Given the description of an element on the screen output the (x, y) to click on. 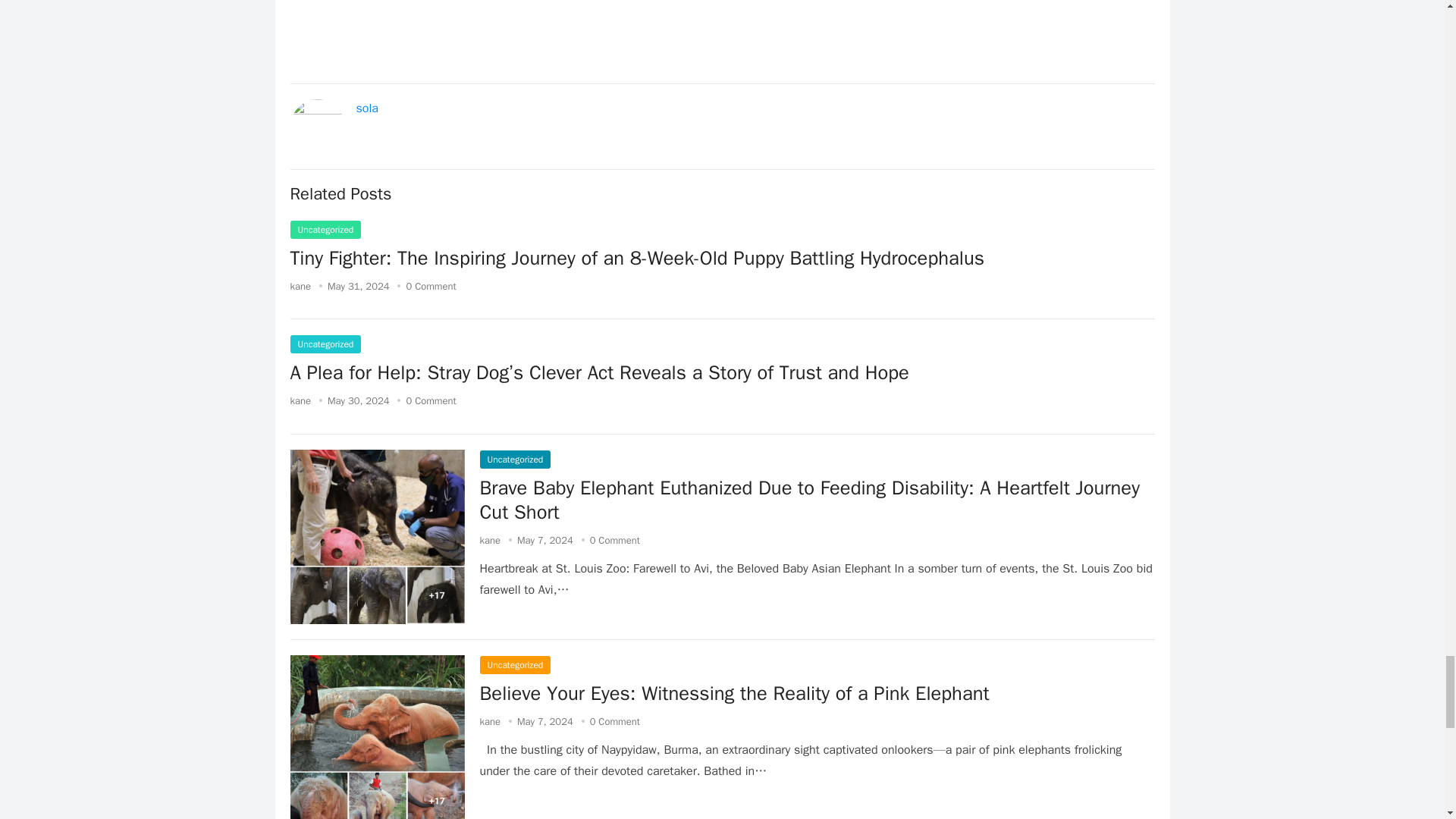
Posts by kane (300, 400)
Believe Your Eyes: Witnessing the Reality of a Pink Elephant (733, 692)
Posts by kane (489, 721)
kane (489, 540)
Posts by kane (300, 286)
Uncategorized (325, 343)
0 Comment (614, 540)
Posts by kane (489, 540)
Uncategorized (514, 459)
kane (300, 286)
